Given the description of an element on the screen output the (x, y) to click on. 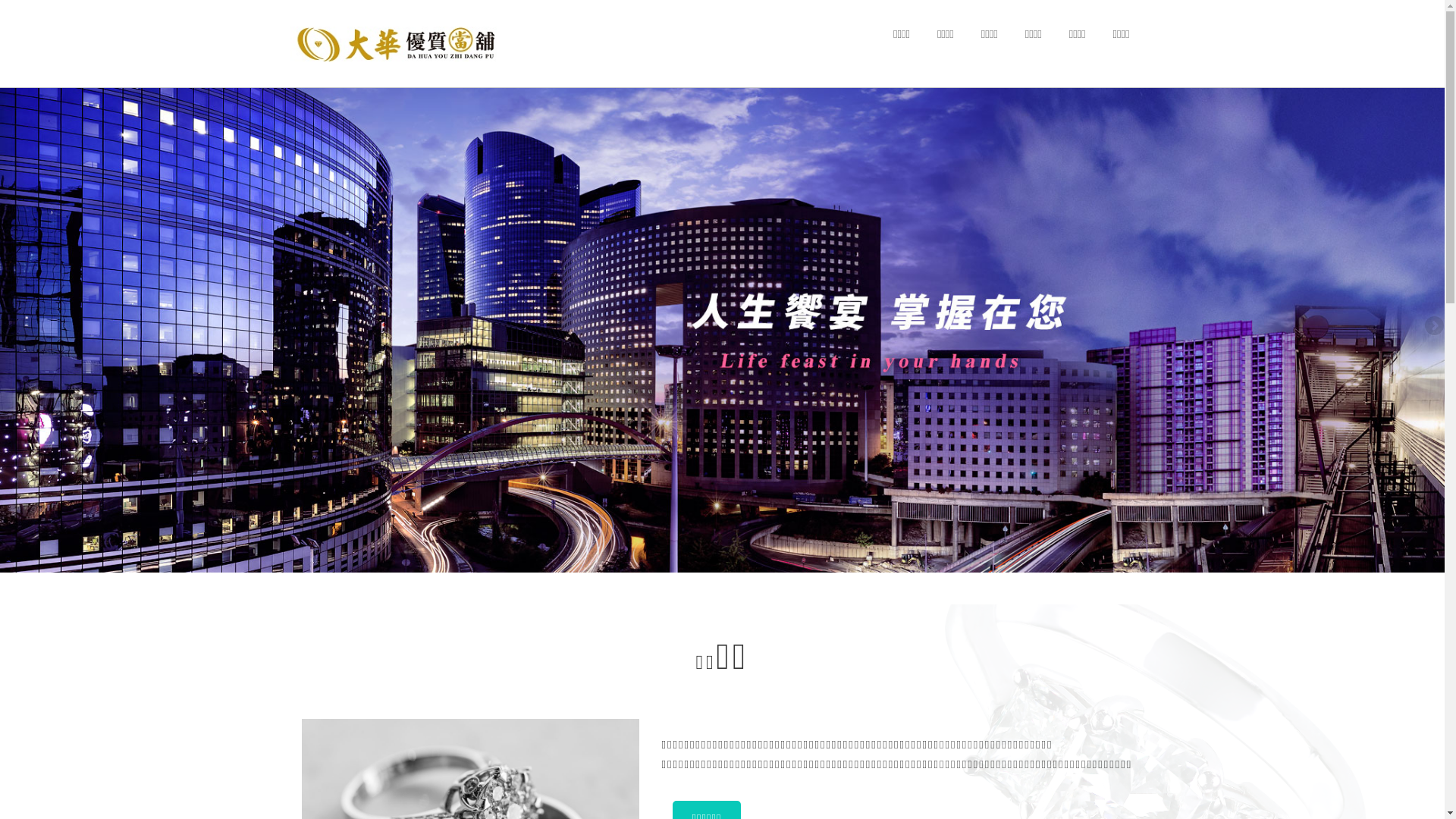
2 Element type: text (730, 560)
1 Element type: text (713, 560)
Previous Element type: text (11, 326)
Next Element type: text (1432, 326)
